Given the description of an element on the screen output the (x, y) to click on. 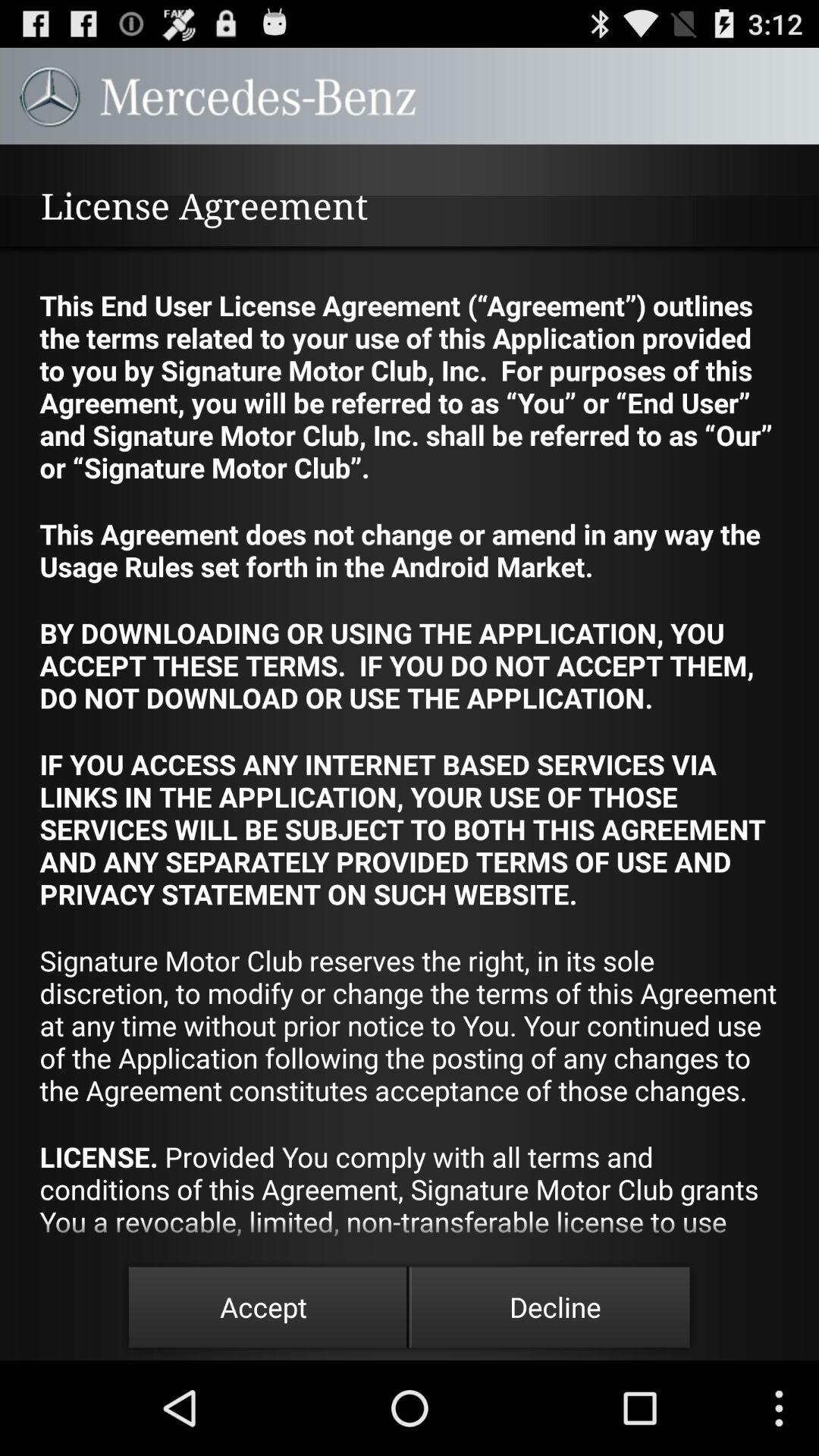
tap the decline (554, 1306)
